Given the description of an element on the screen output the (x, y) to click on. 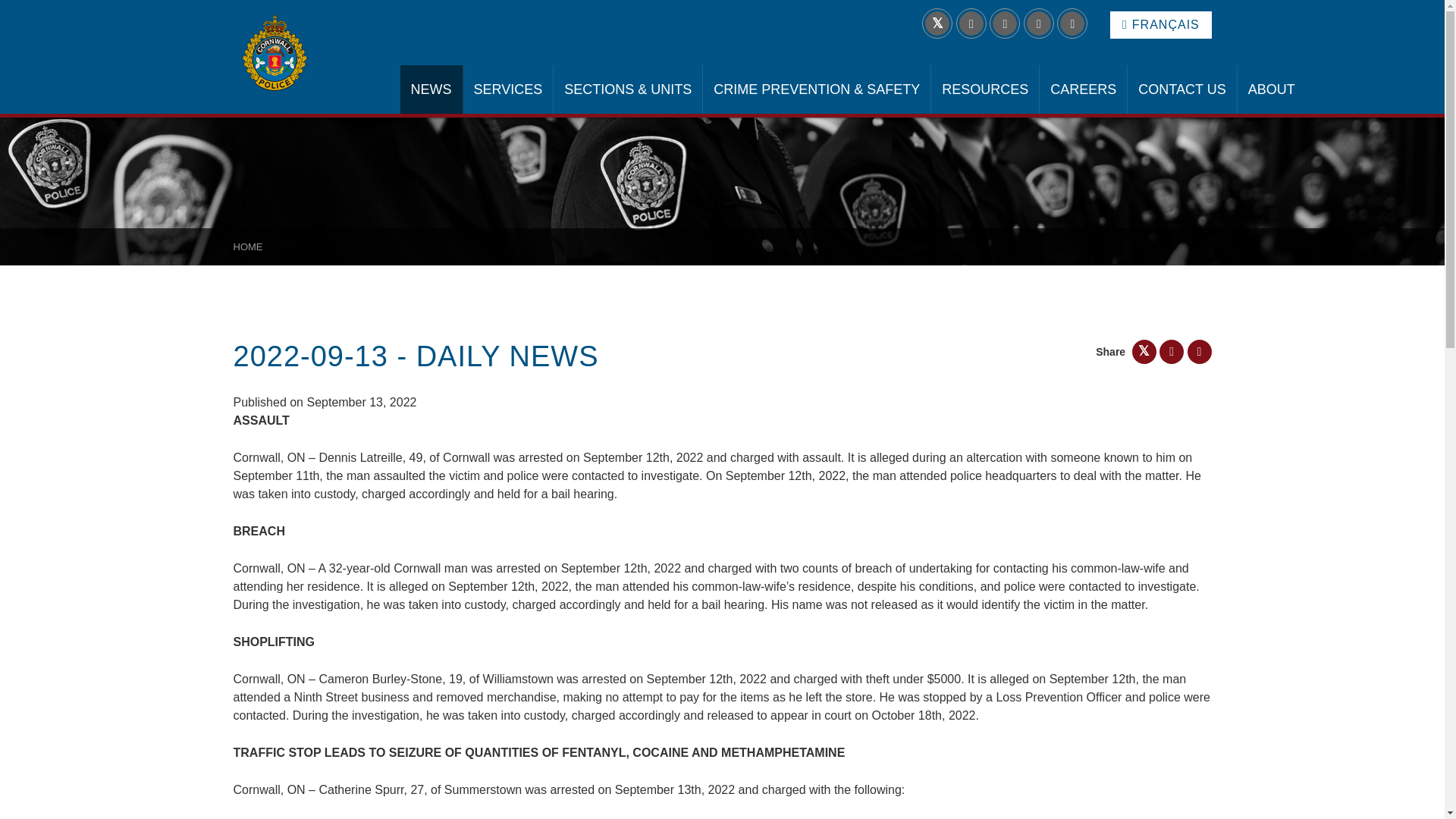
Follow us on Twitter (936, 23)
Follow us on LinkedIn (971, 23)
Follow us on Facebook (1004, 23)
Follow us on Instagram (1038, 23)
Follow us on YouTube (1071, 23)
NEWS (431, 89)
SERVICES (508, 89)
